Given the description of an element on the screen output the (x, y) to click on. 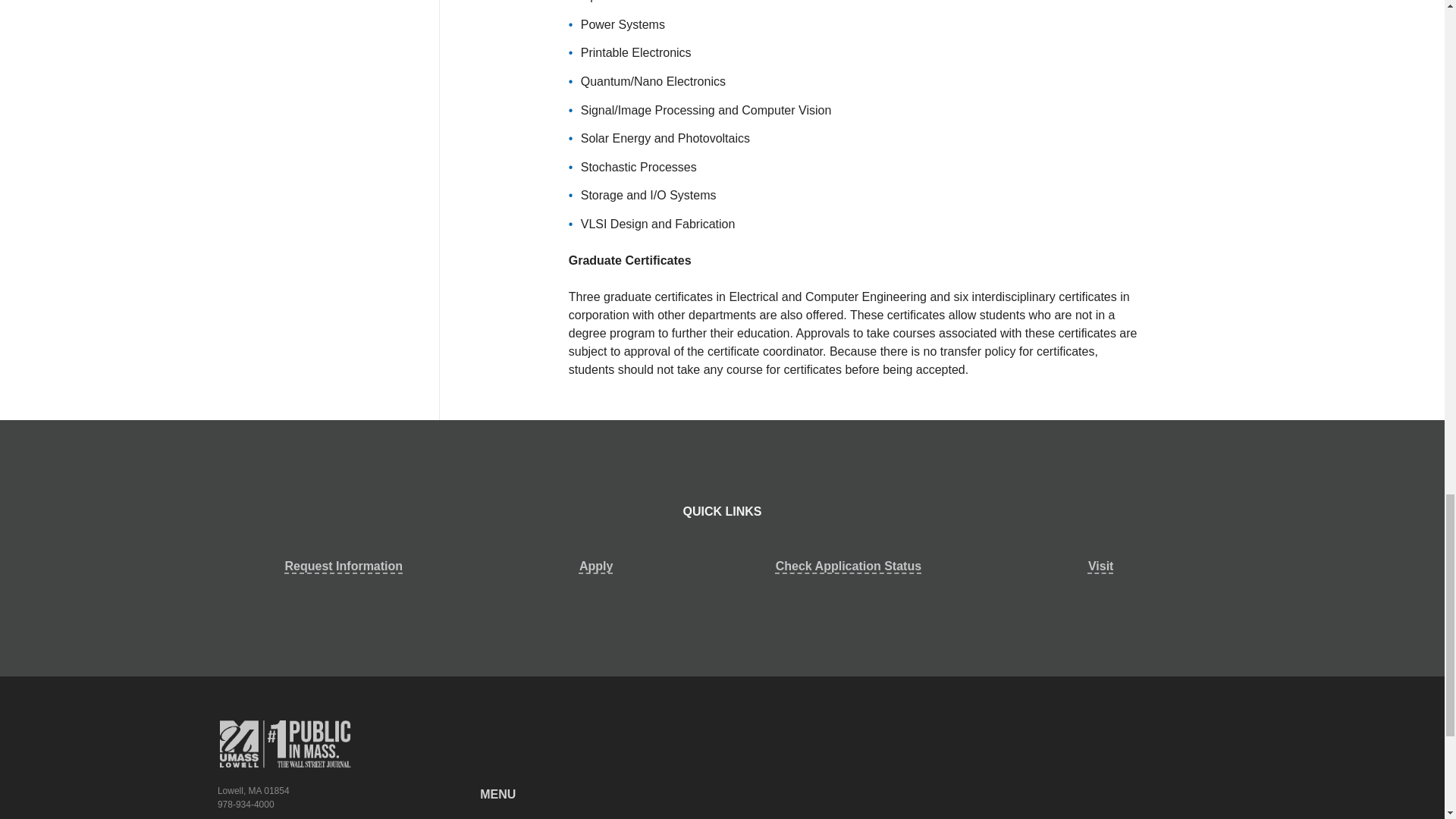
Request Information (343, 566)
Visit (1100, 566)
Apply (596, 566)
Check Application Status (848, 566)
